Given the description of an element on the screen output the (x, y) to click on. 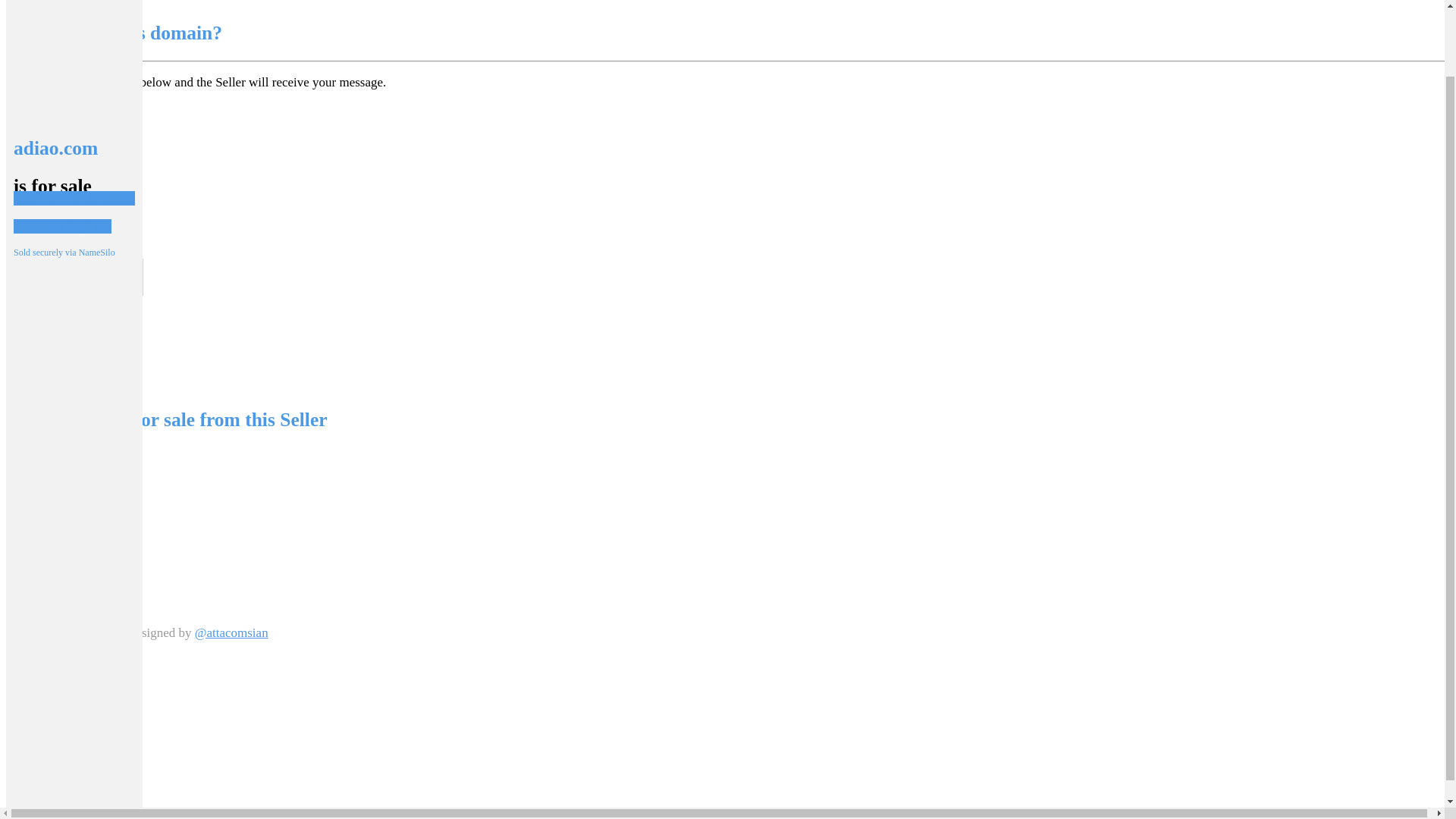
Submit Form (41, 308)
Wired Dots (90, 632)
qiqy.com (60, 515)
Purchase Options (62, 150)
1pdc.com (61, 454)
5to2.com (60, 470)
owiss.com (63, 500)
gript.com (60, 485)
